Given the description of an element on the screen output the (x, y) to click on. 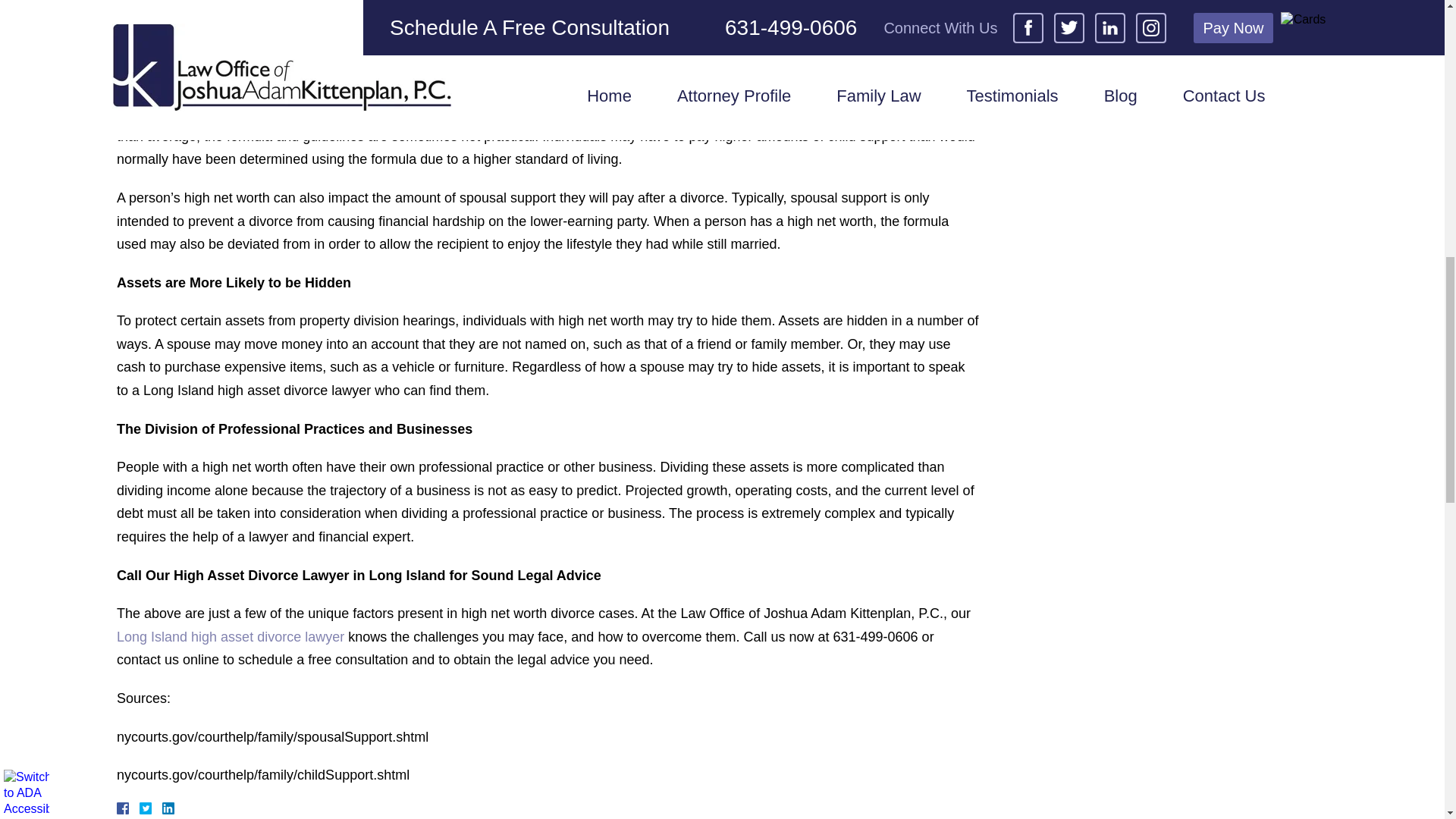
Facebook (140, 808)
Twitter (152, 808)
CashDivorce (191, 12)
LinkedIn (162, 808)
